Given the description of an element on the screen output the (x, y) to click on. 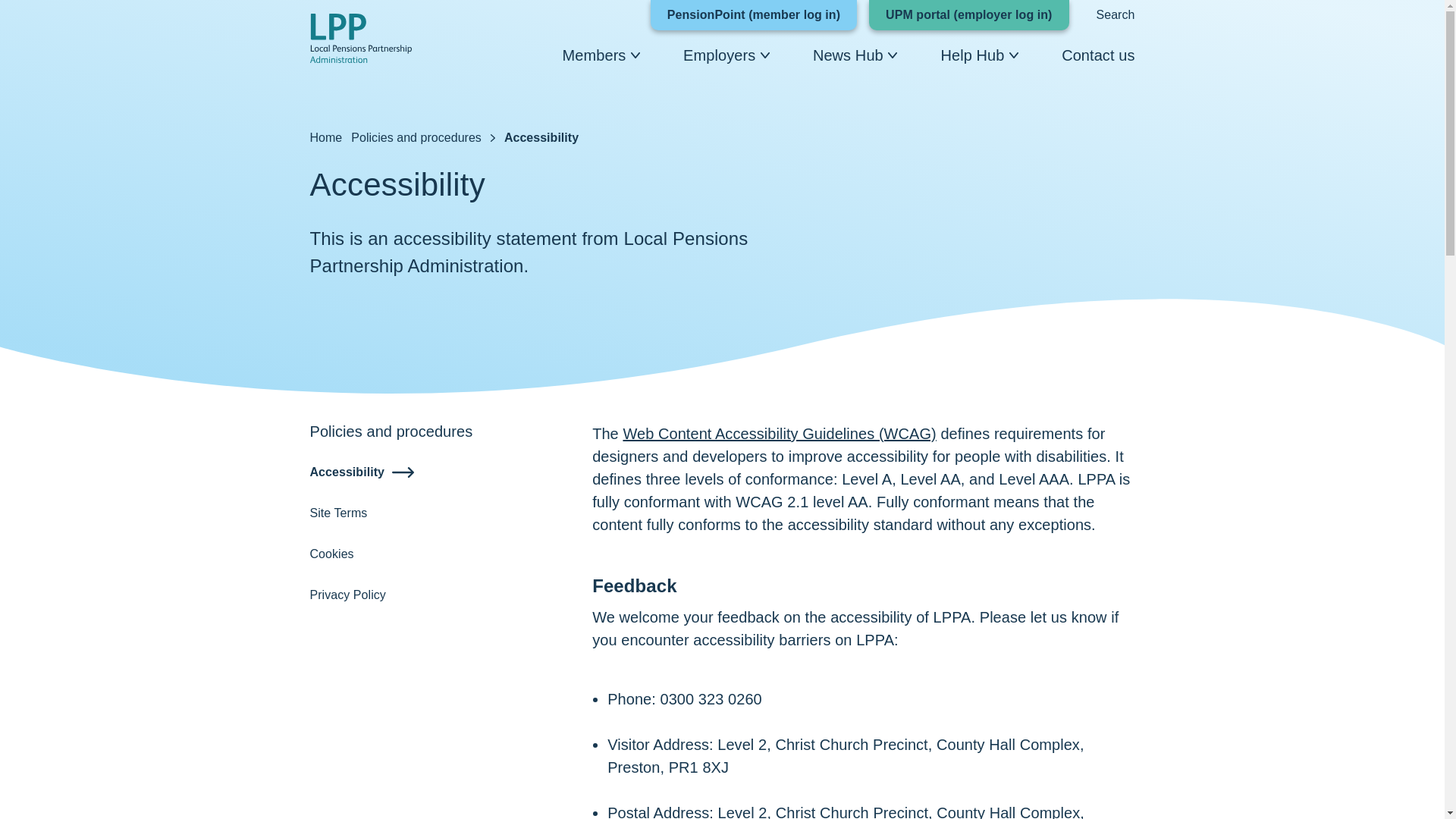
Employers (718, 55)
Search (1115, 14)
Search (1115, 14)
Visit the Members page (594, 55)
Members (594, 55)
